Given the description of an element on the screen output the (x, y) to click on. 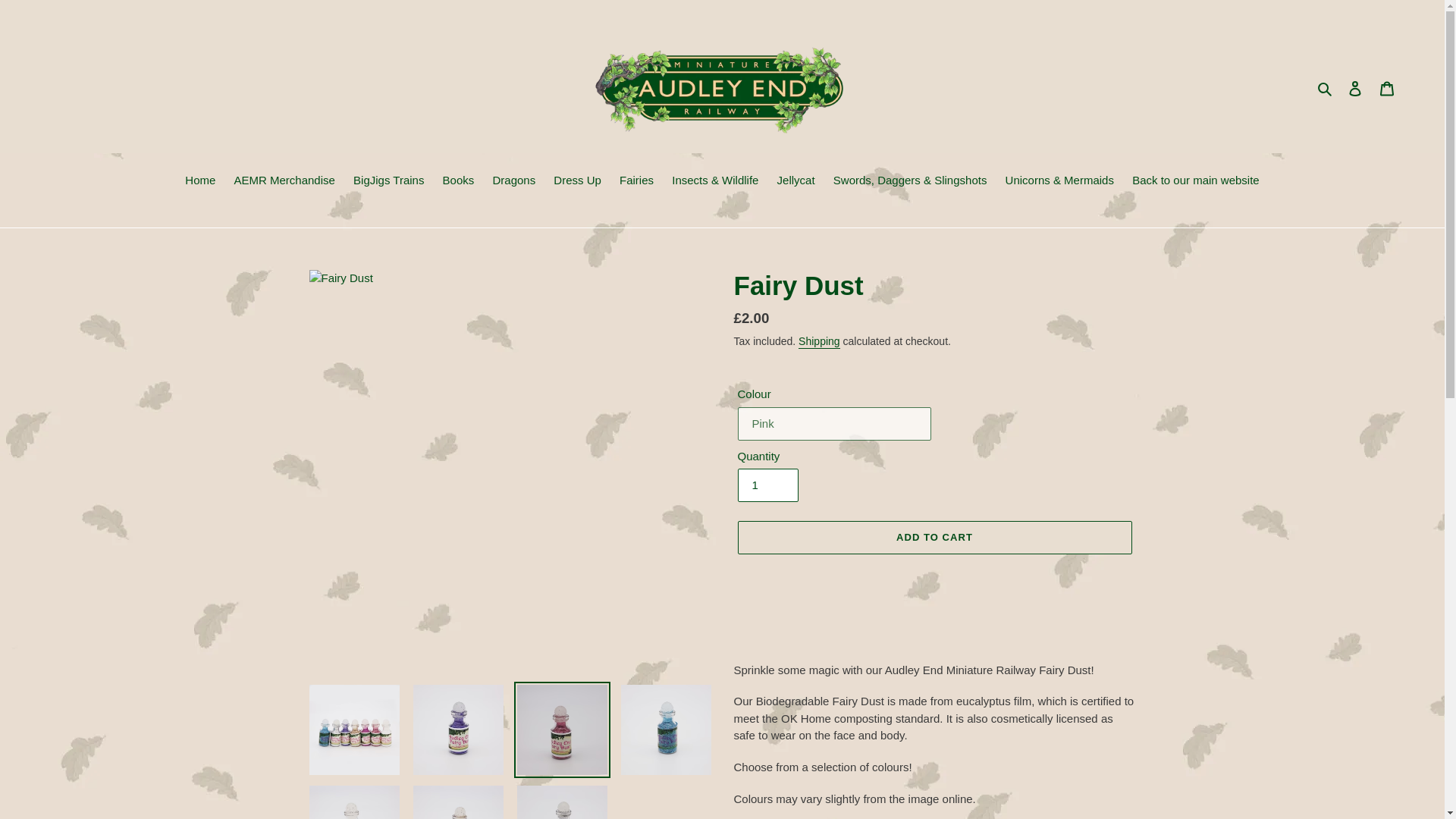
Dragons (513, 181)
Search (1326, 87)
Back to our main website (1195, 181)
AEMR Merchandise (283, 181)
1 (766, 485)
Cart (1387, 88)
Log in (1355, 88)
Jellycat (796, 181)
BigJigs Trains (388, 181)
Home (199, 181)
